Given the description of an element on the screen output the (x, y) to click on. 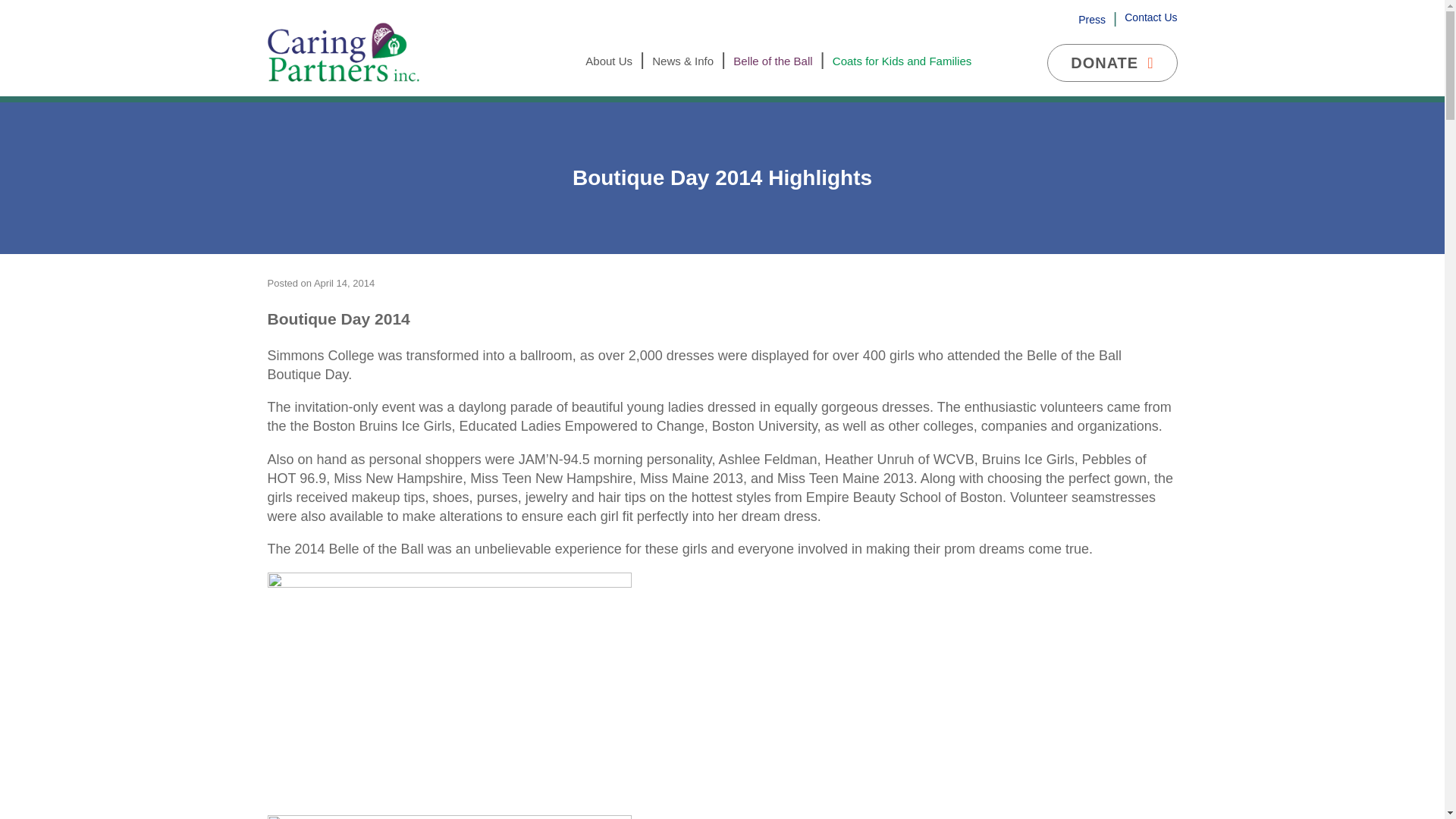
Contact Us (1150, 17)
DONATE (1111, 62)
Belle of the Ball (772, 60)
About Us (608, 60)
Press (1091, 19)
Coats for Kids and Families (901, 60)
